Given the description of an element on the screen output the (x, y) to click on. 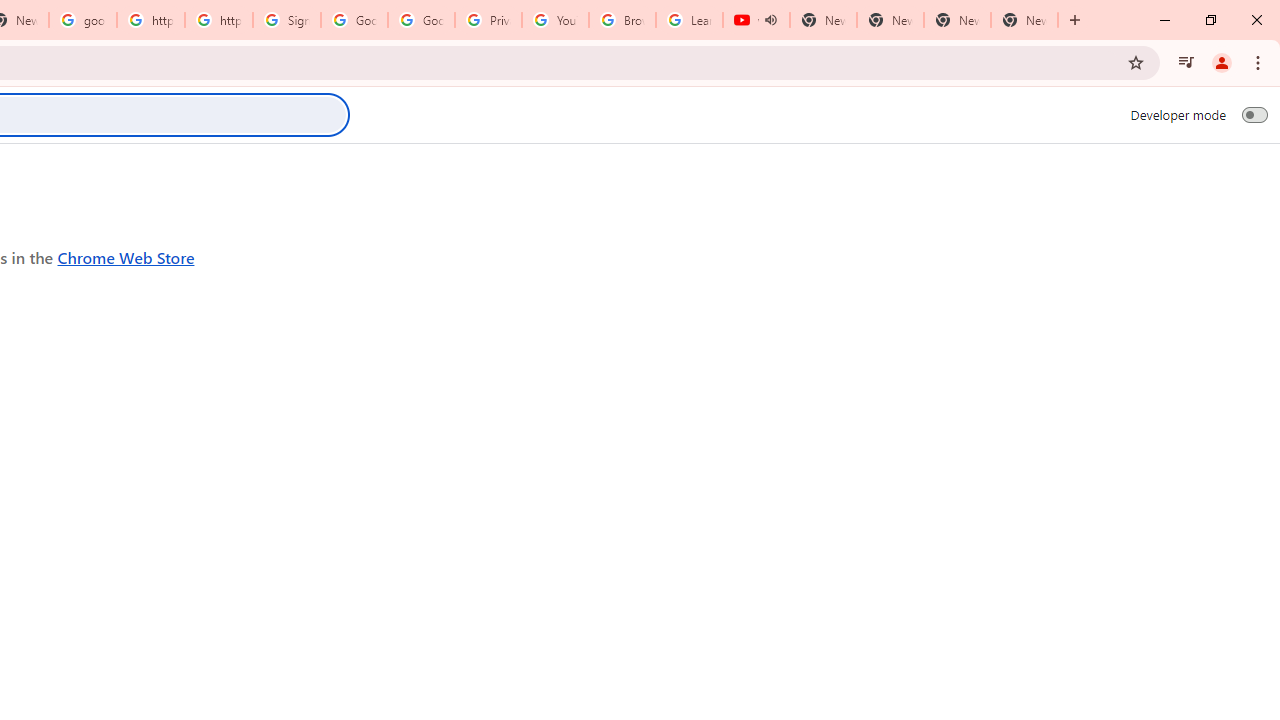
New Tab (1024, 20)
https://scholar.google.com/ (150, 20)
Developer mode (1254, 114)
YouTube (555, 20)
Chrome Web Store (125, 256)
